Given the description of an element on the screen output the (x, y) to click on. 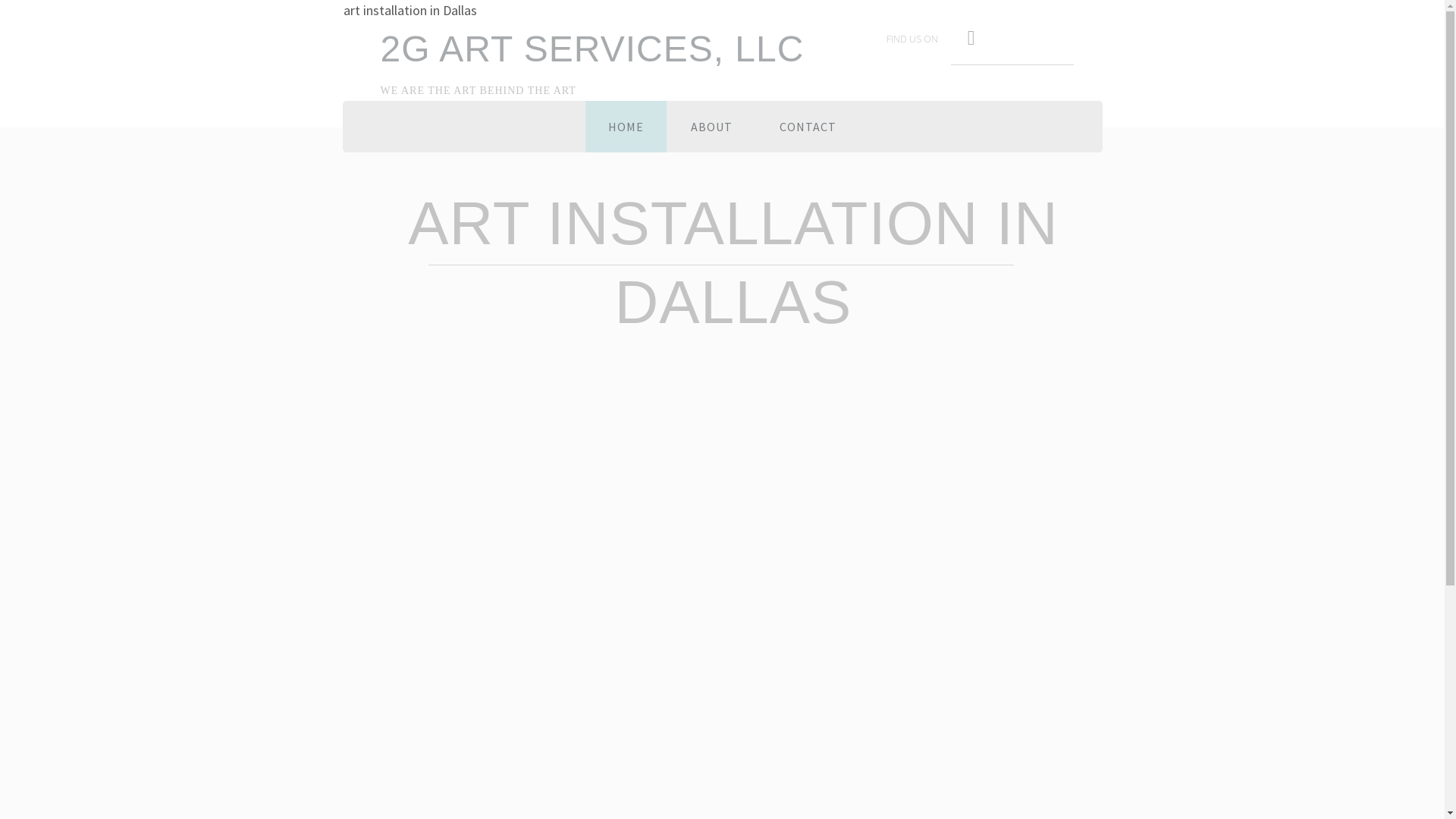
CONTACT Element type: text (807, 126)
ABOUT Element type: text (711, 126)
HOME Element type: text (625, 126)
Enter text Element type: text (969, 39)
